Given the description of an element on the screen output the (x, y) to click on. 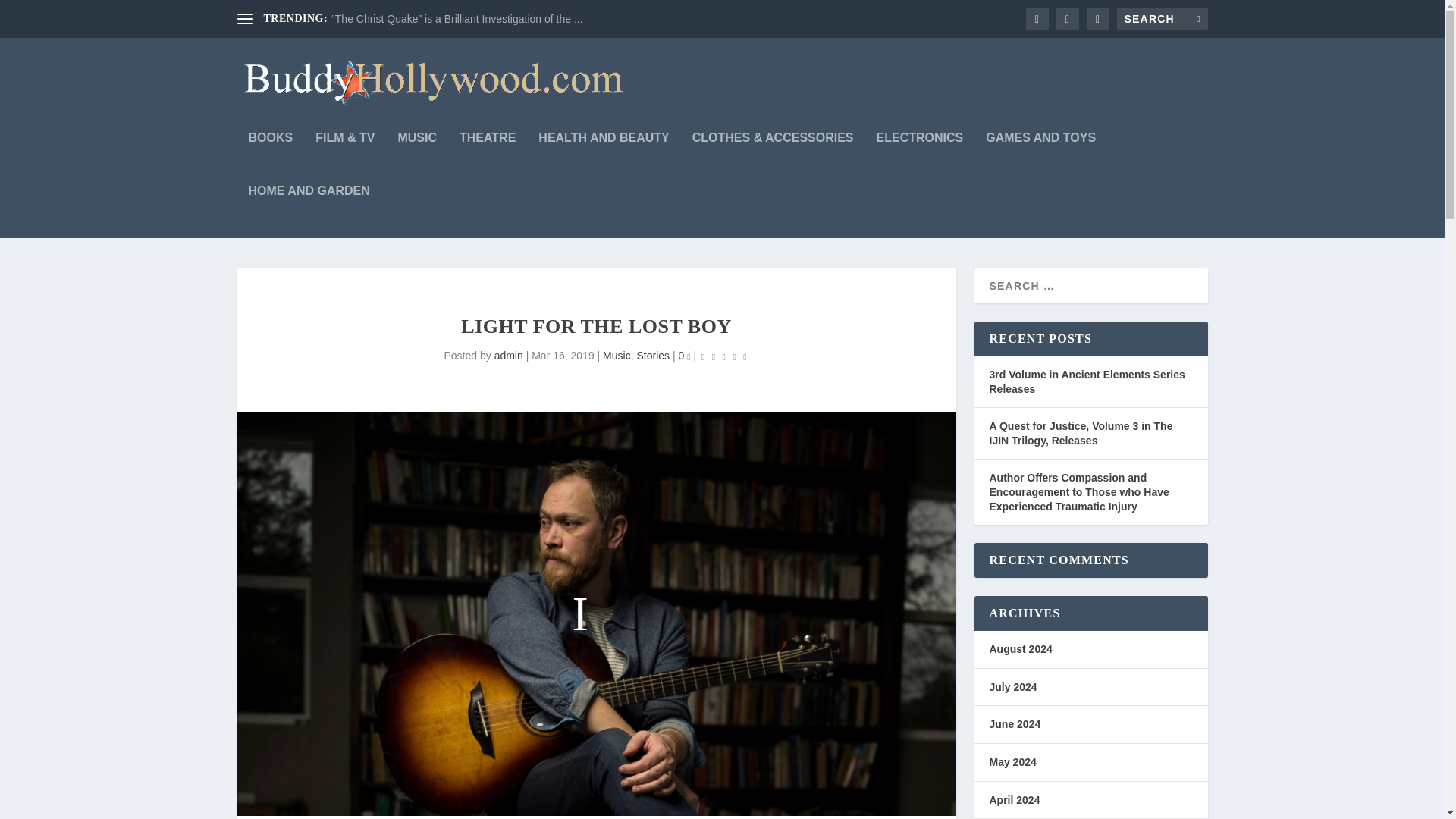
HEALTH AND BEAUTY (603, 158)
ELECTRONICS (919, 158)
Search for: (1161, 18)
Rating: 3.00 (723, 356)
Posts by admin (508, 355)
Music (616, 355)
0 (684, 355)
GAMES AND TOYS (1040, 158)
THEATRE (487, 158)
